Given the description of an element on the screen output the (x, y) to click on. 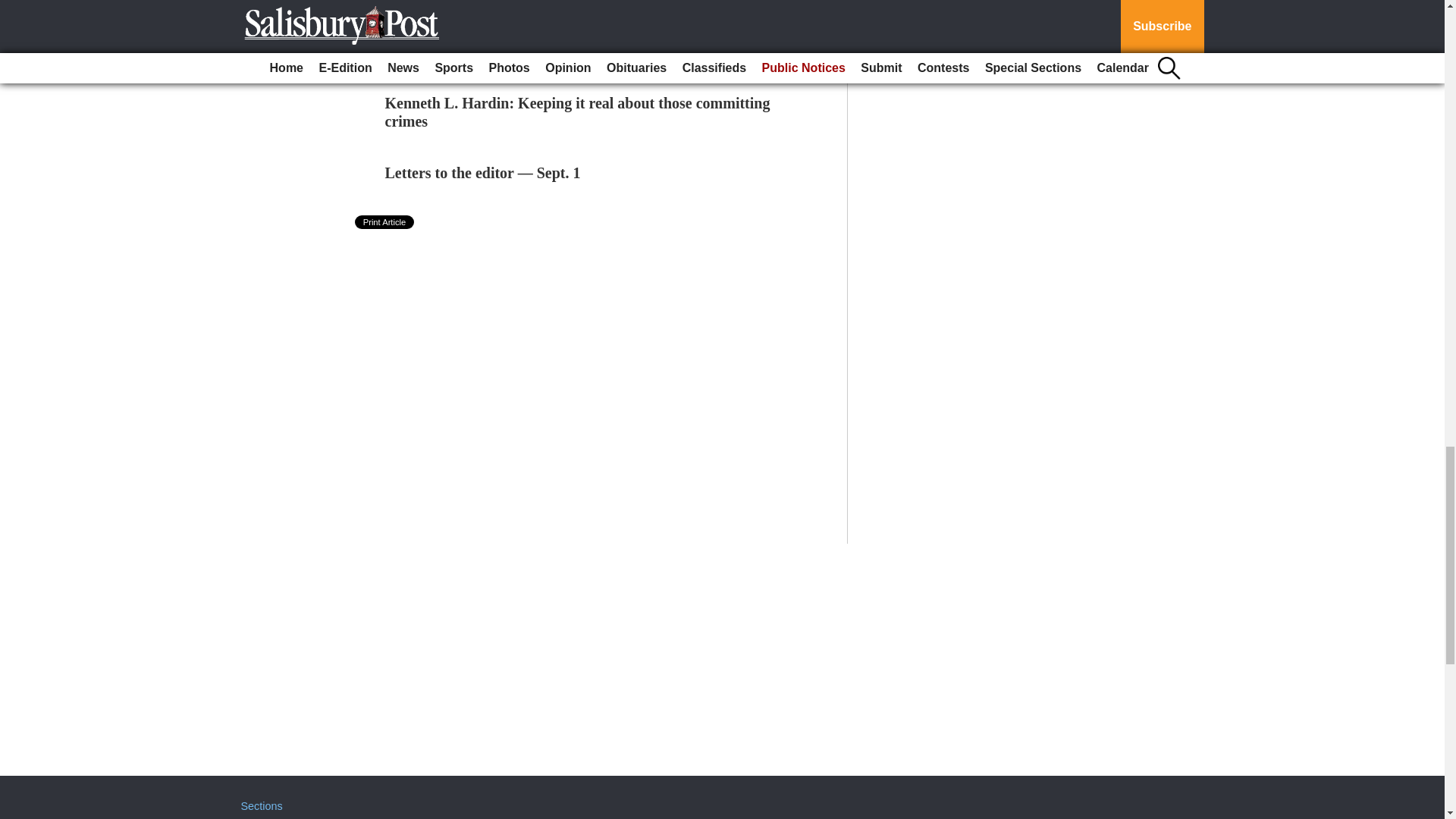
My Turn: Renee C. Scheidt: Policies, not personalities (559, 4)
Chandler Inions: Swarmed by compassion (522, 51)
